Given the description of an element on the screen output the (x, y) to click on. 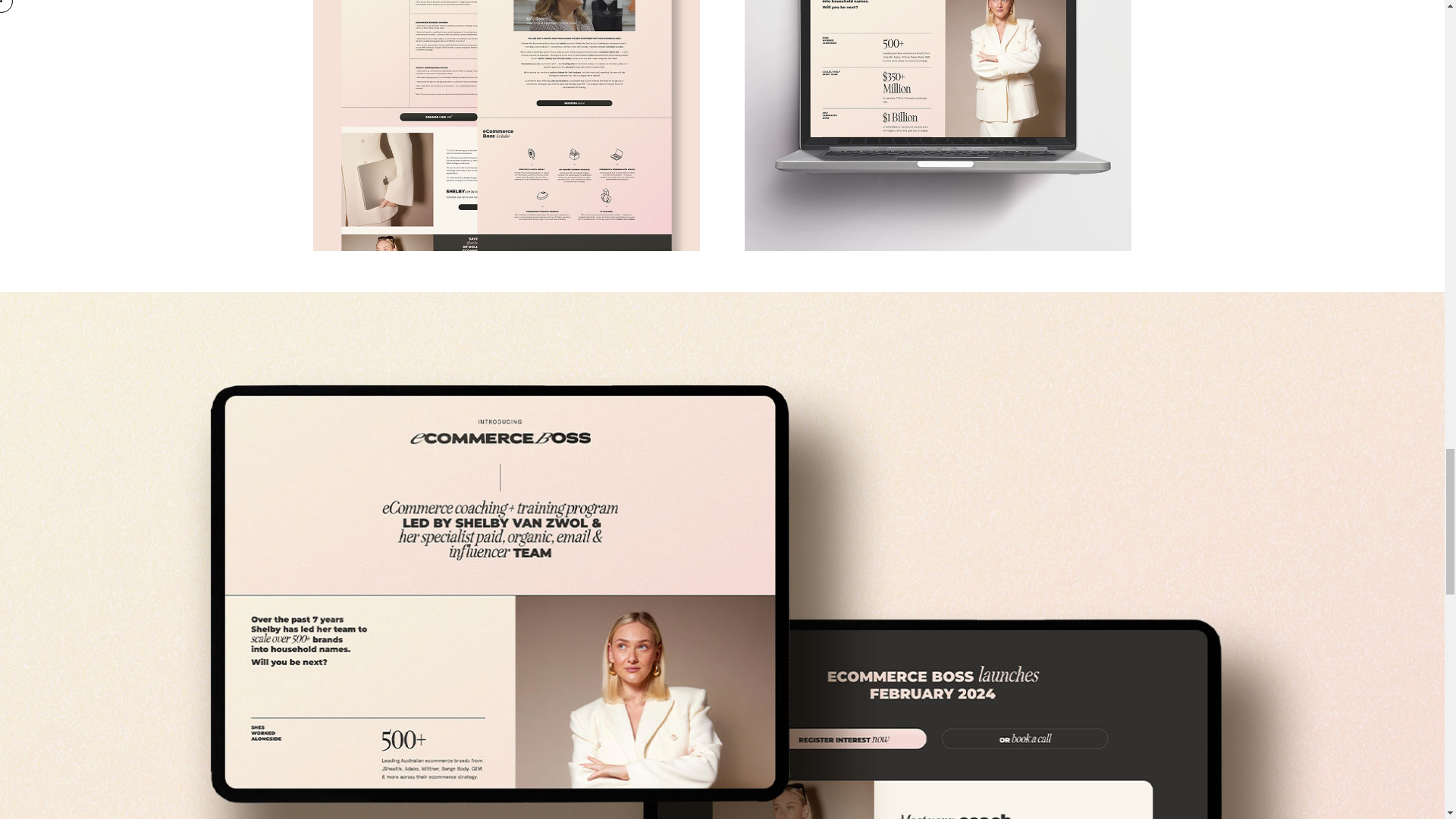
EcommBoss-6 (505, 125)
EcommBoss-7 (937, 125)
